Given the description of an element on the screen output the (x, y) to click on. 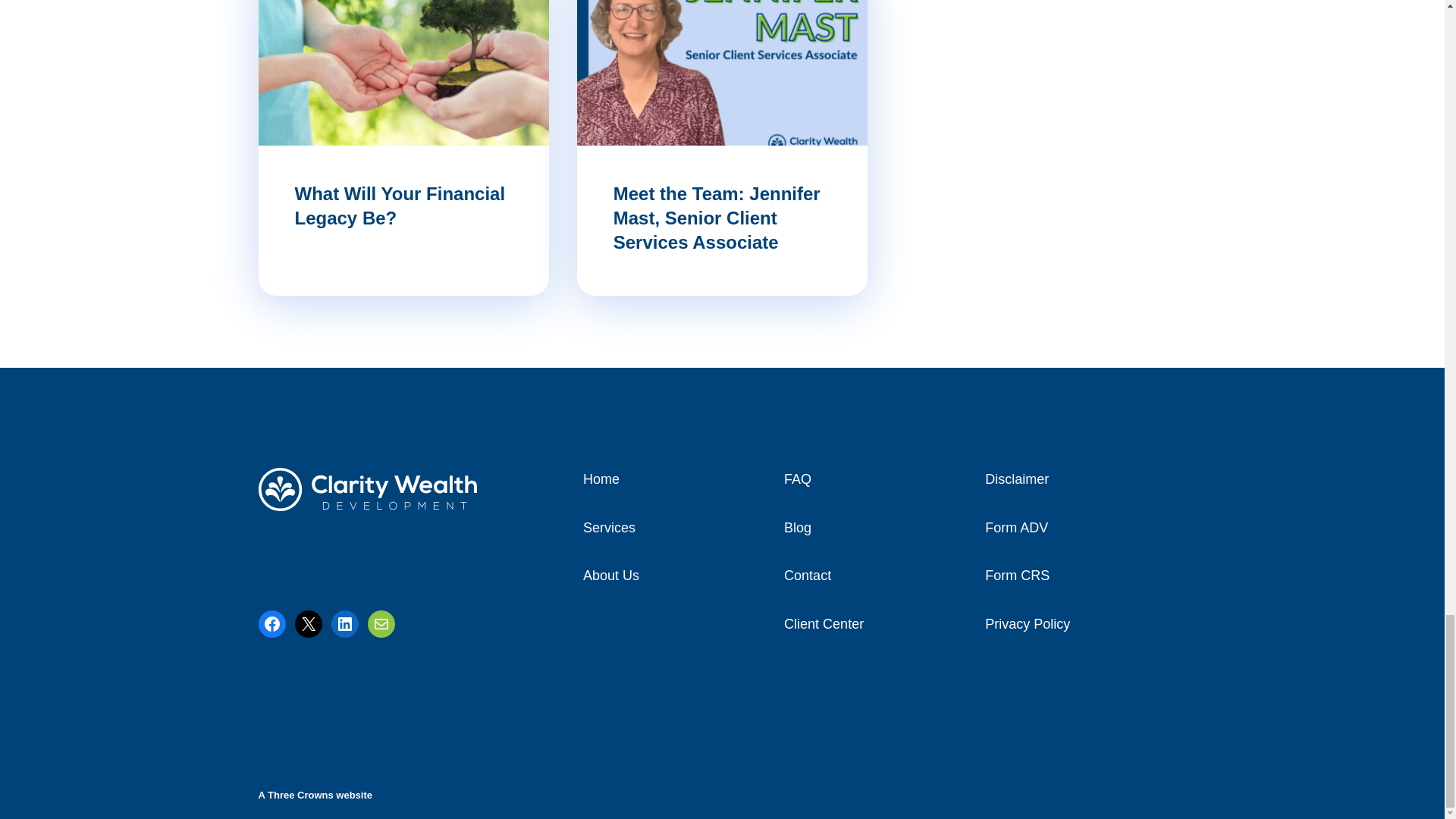
What Will Your Financial Legacy Be? (399, 205)
